Given the description of an element on the screen output the (x, y) to click on. 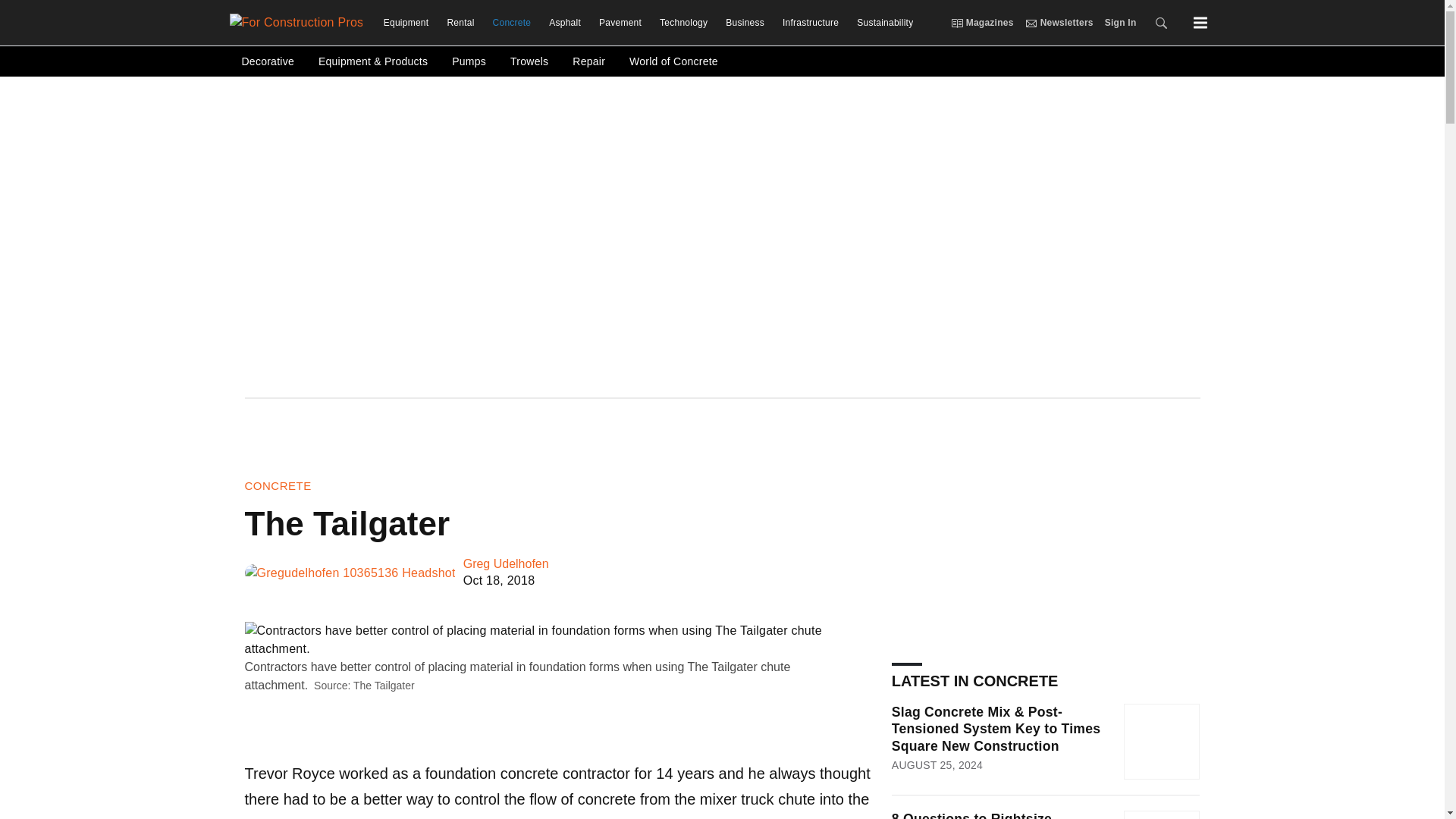
Sustainability (879, 22)
Repair (588, 61)
Sign In (1115, 22)
Newsletters (1030, 22)
Equipment (406, 22)
Magazines (956, 22)
Decorative (267, 61)
Infrastructure (810, 22)
Magazines (981, 22)
Pavement (619, 22)
